Given the description of an element on the screen output the (x, y) to click on. 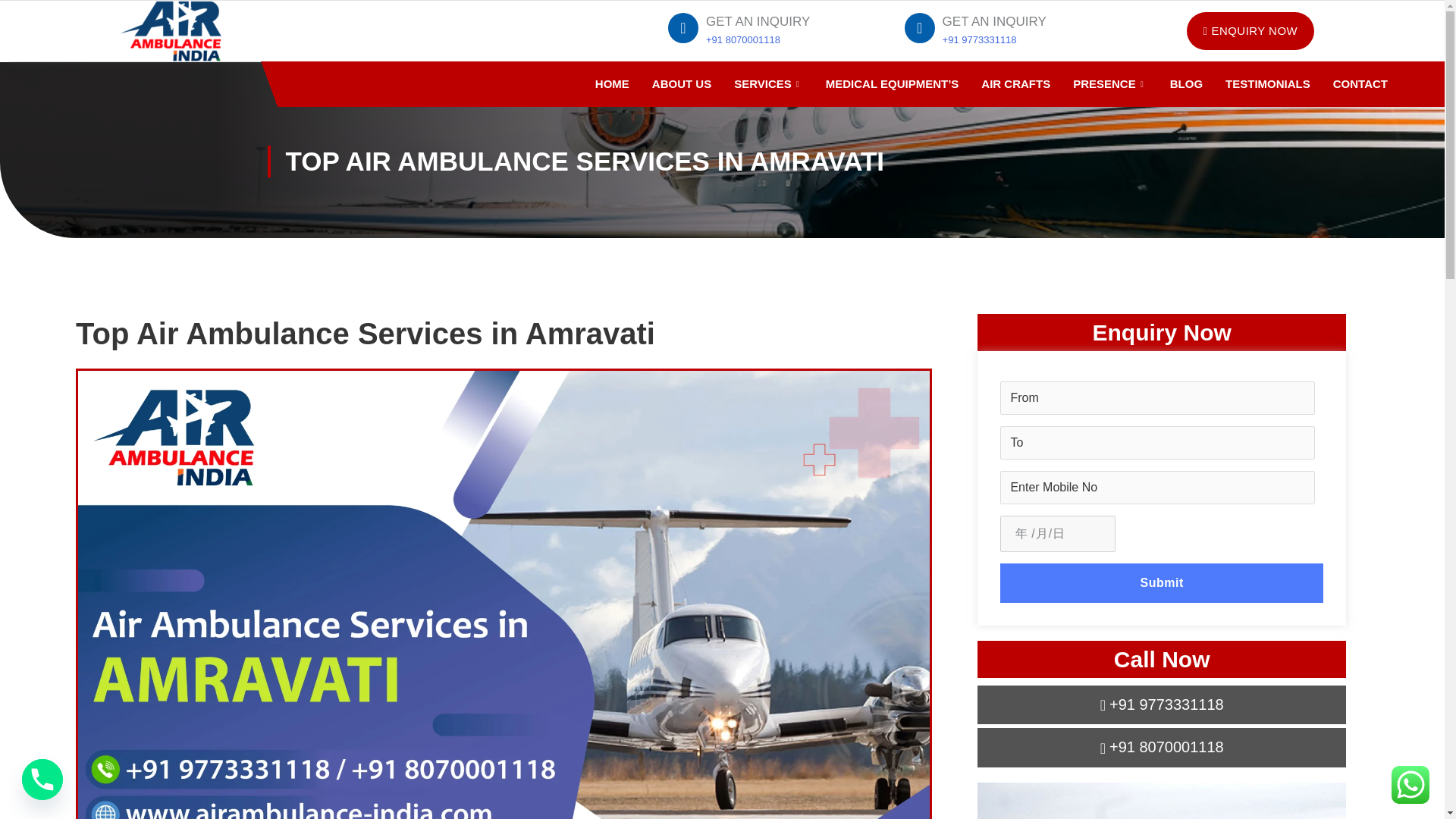
PRESENCE (1109, 84)
SERVICES (767, 84)
GET AN INQUIRY (994, 21)
ENQUIRY NOW (1250, 31)
CONTACT (1360, 84)
TESTIMONIALS (1268, 84)
GET AN INQUIRY (757, 21)
AIR CRAFTS (1015, 84)
BLOG (1186, 84)
HOME (611, 84)
Submit (1161, 582)
ABOUT US (681, 84)
